Given the description of an element on the screen output the (x, y) to click on. 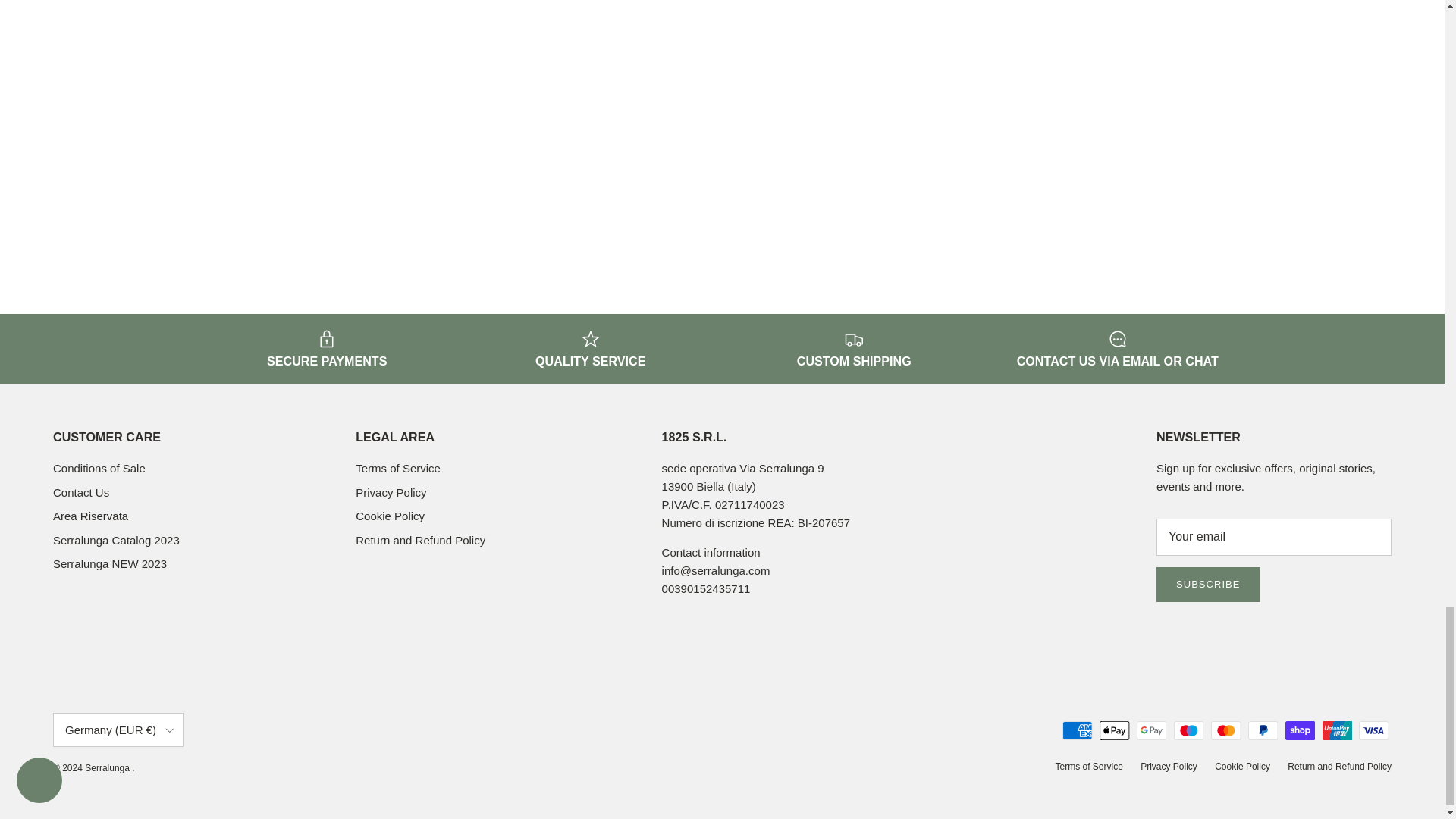
Apple Pay (1114, 730)
Mastercard (1225, 730)
Maestro (1188, 730)
Google Pay (1151, 730)
American Express (1077, 730)
PayPal (1262, 730)
